Given the description of an element on the screen output the (x, y) to click on. 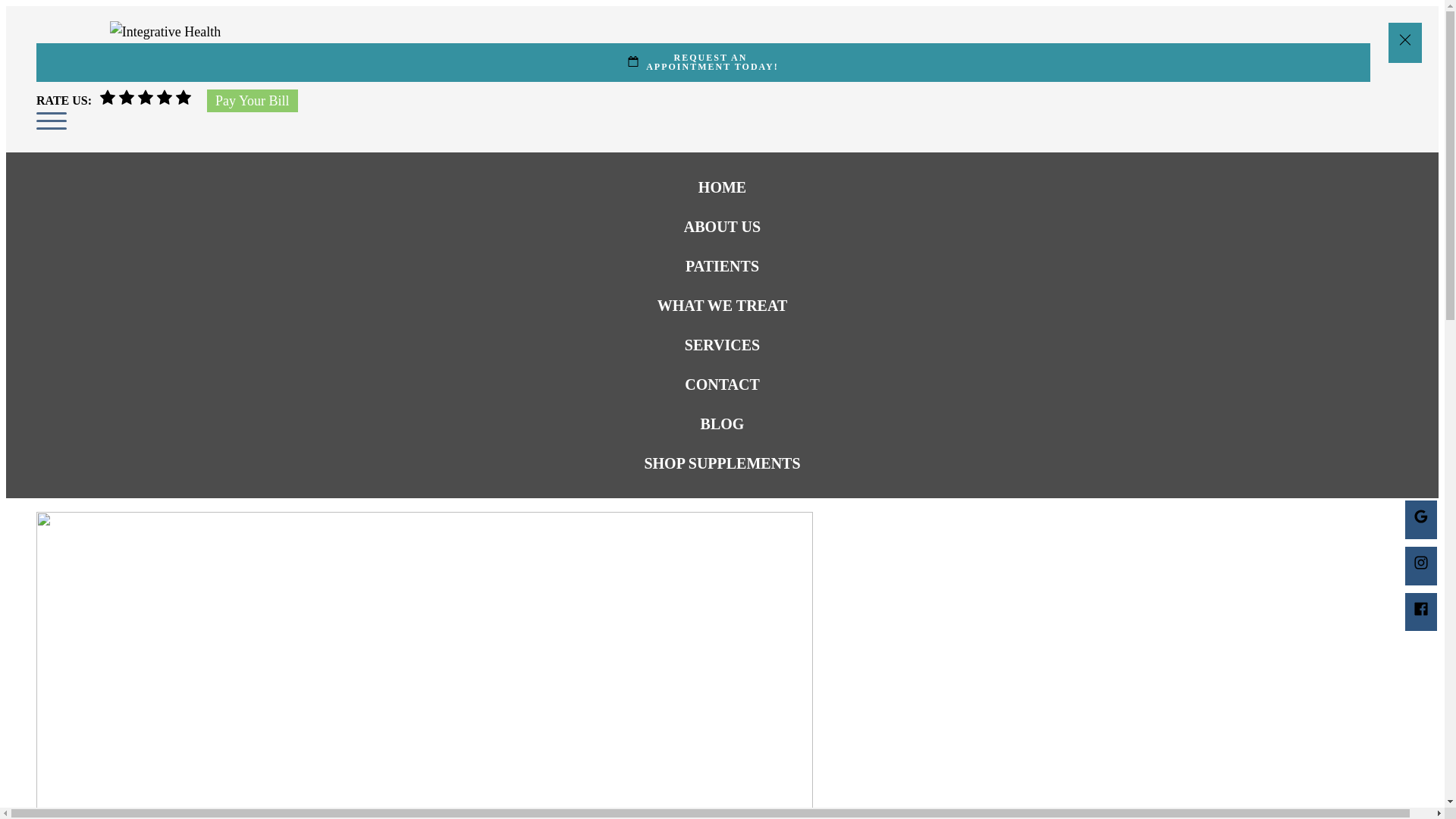
ABOUT US (721, 226)
SERVICES (721, 344)
PATIENTS (721, 265)
HOME (721, 187)
WHAT WE TREAT (703, 62)
Pay Your Bill (721, 305)
